Given the description of an element on the screen output the (x, y) to click on. 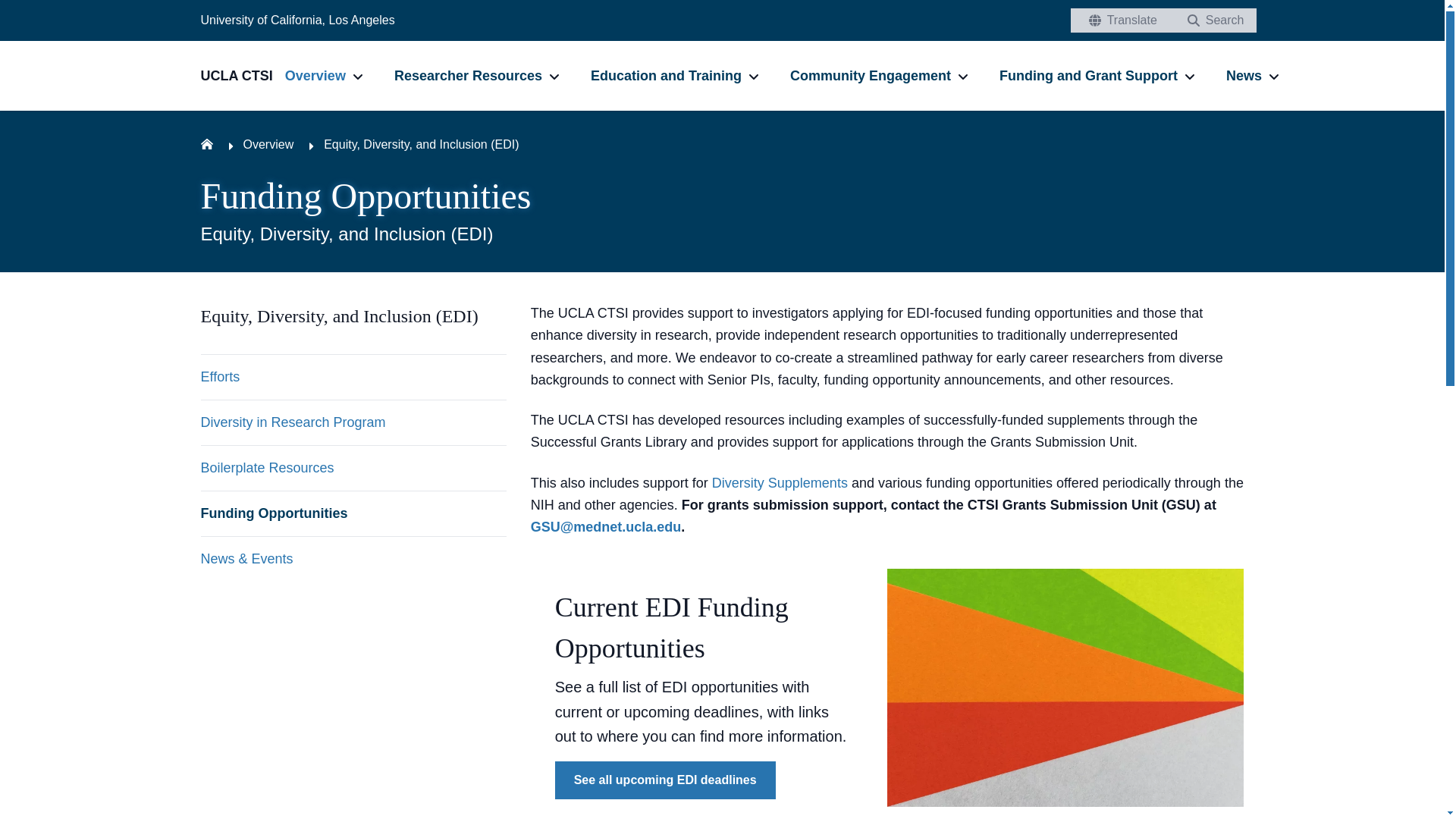
University of California, Los Angeles (296, 20)
UCLA CTSI (241, 75)
Search (1212, 20)
Overview sub-navigation (357, 75)
Translate (1119, 20)
